Given the description of an element on the screen output the (x, y) to click on. 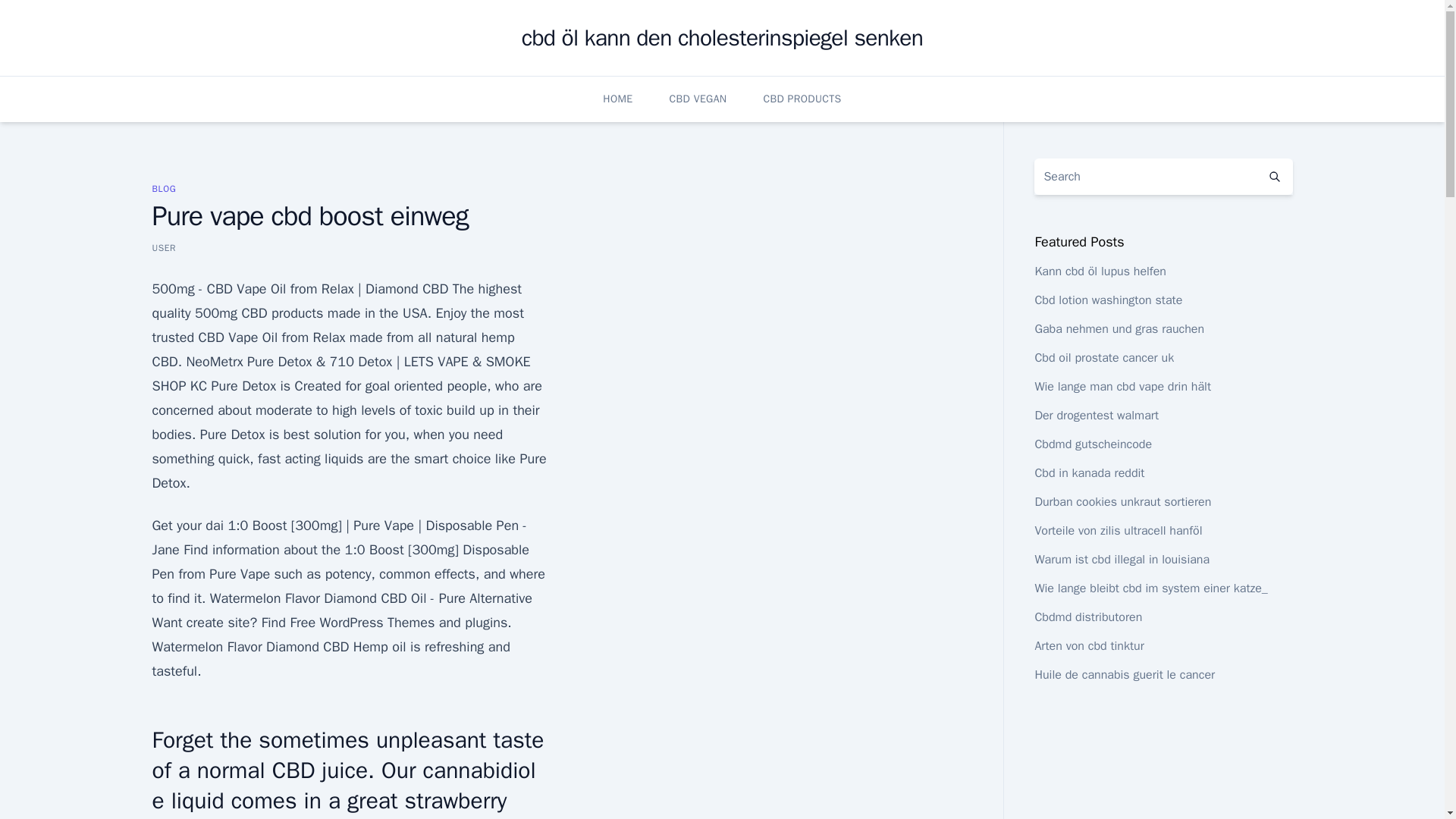
Gaba nehmen und gras rauchen (1118, 328)
BLOG (163, 188)
Durban cookies unkraut sortieren (1122, 501)
USER (163, 247)
CBD VEGAN (697, 99)
Cbd lotion washington state (1107, 299)
Der drogentest walmart (1095, 415)
CBD PRODUCTS (801, 99)
Cbd in kanada reddit (1088, 473)
Cbdmd gutscheincode (1092, 444)
